Given the description of an element on the screen output the (x, y) to click on. 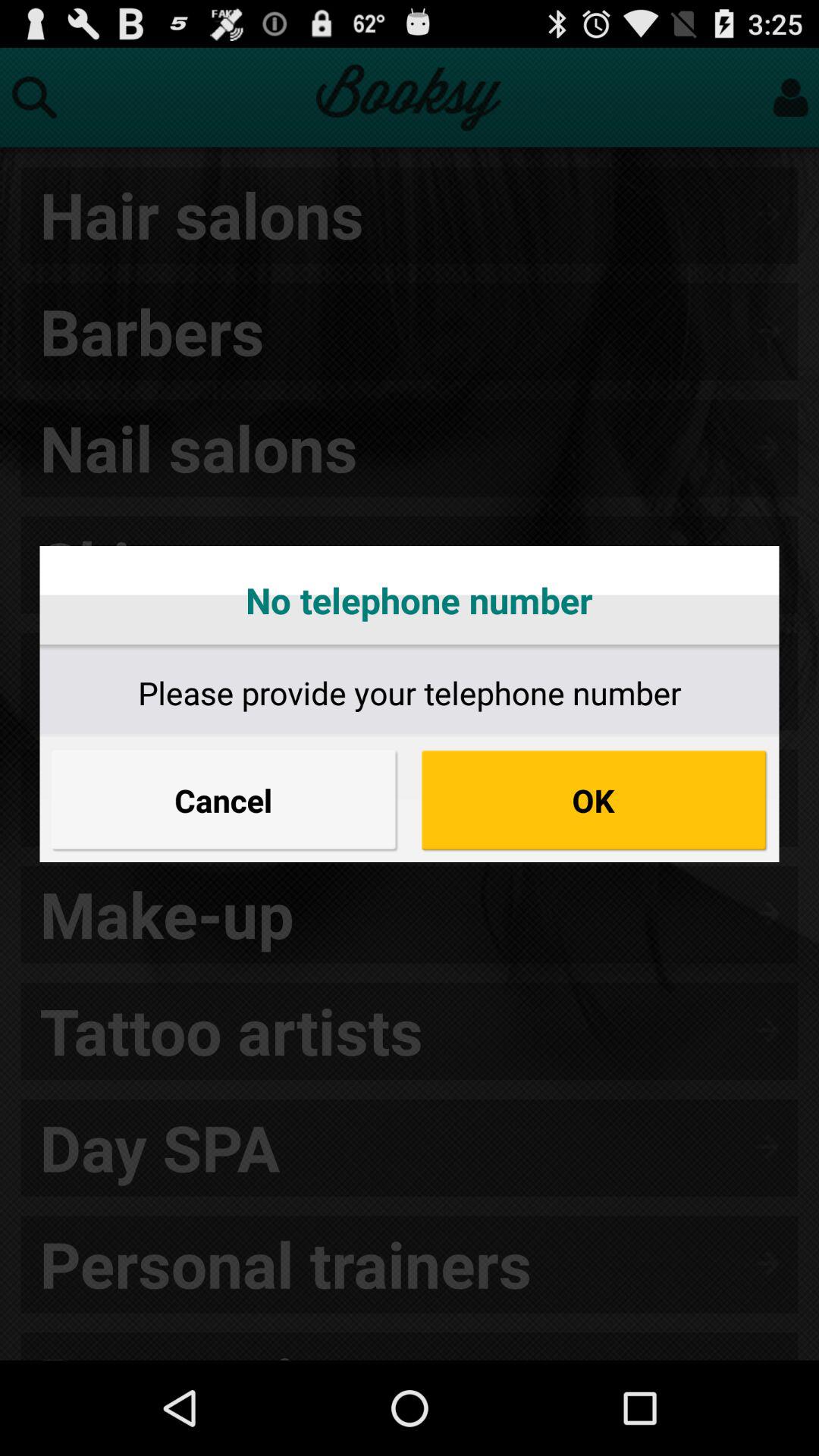
select icon to the left of ok item (224, 799)
